Given the description of an element on the screen output the (x, y) to click on. 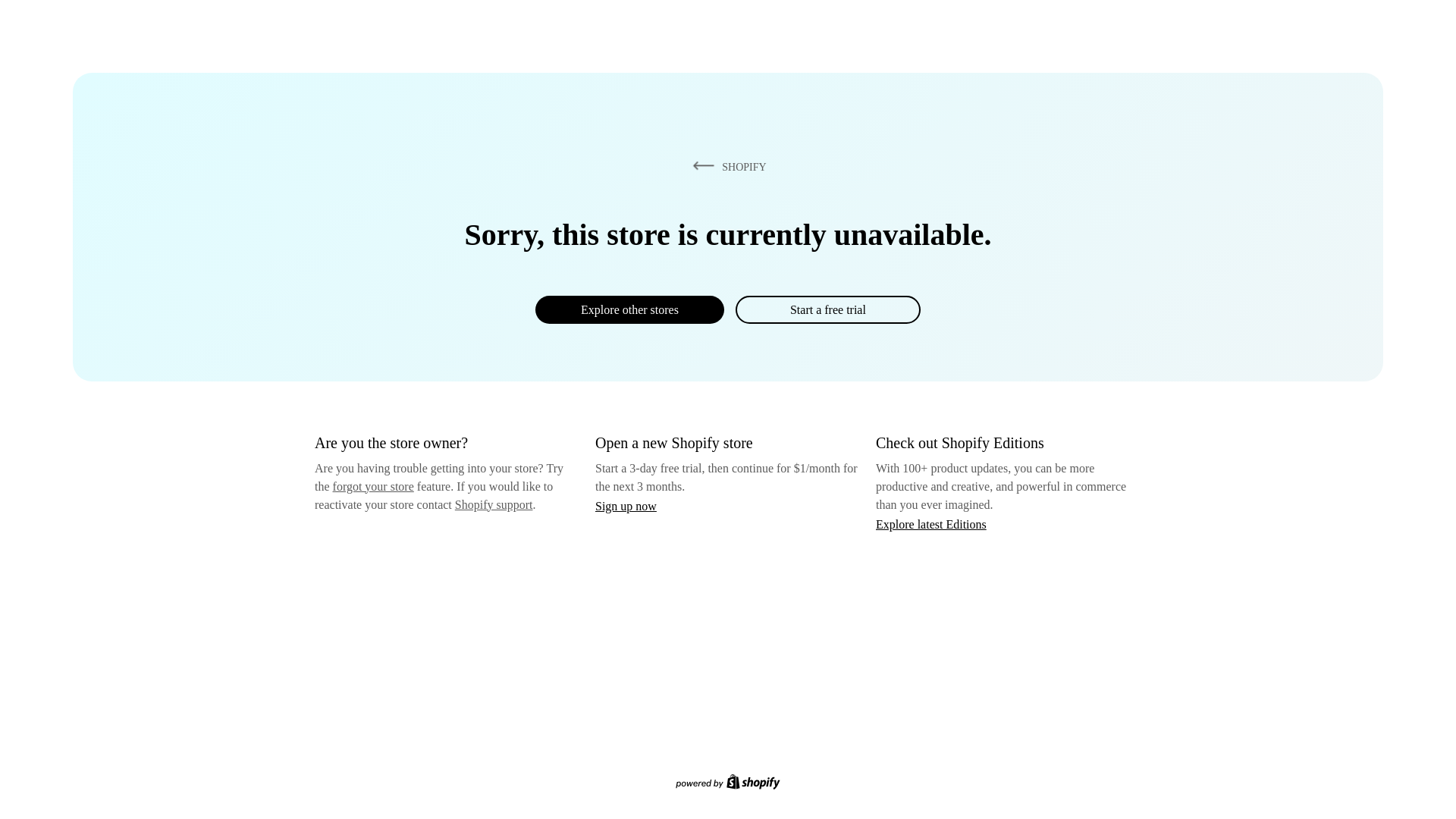
Shopify support (493, 504)
forgot your store (373, 486)
Start a free trial (827, 309)
Explore other stores (629, 309)
Explore latest Editions (931, 523)
SHOPIFY (726, 166)
Sign up now (625, 505)
